Given the description of an element on the screen output the (x, y) to click on. 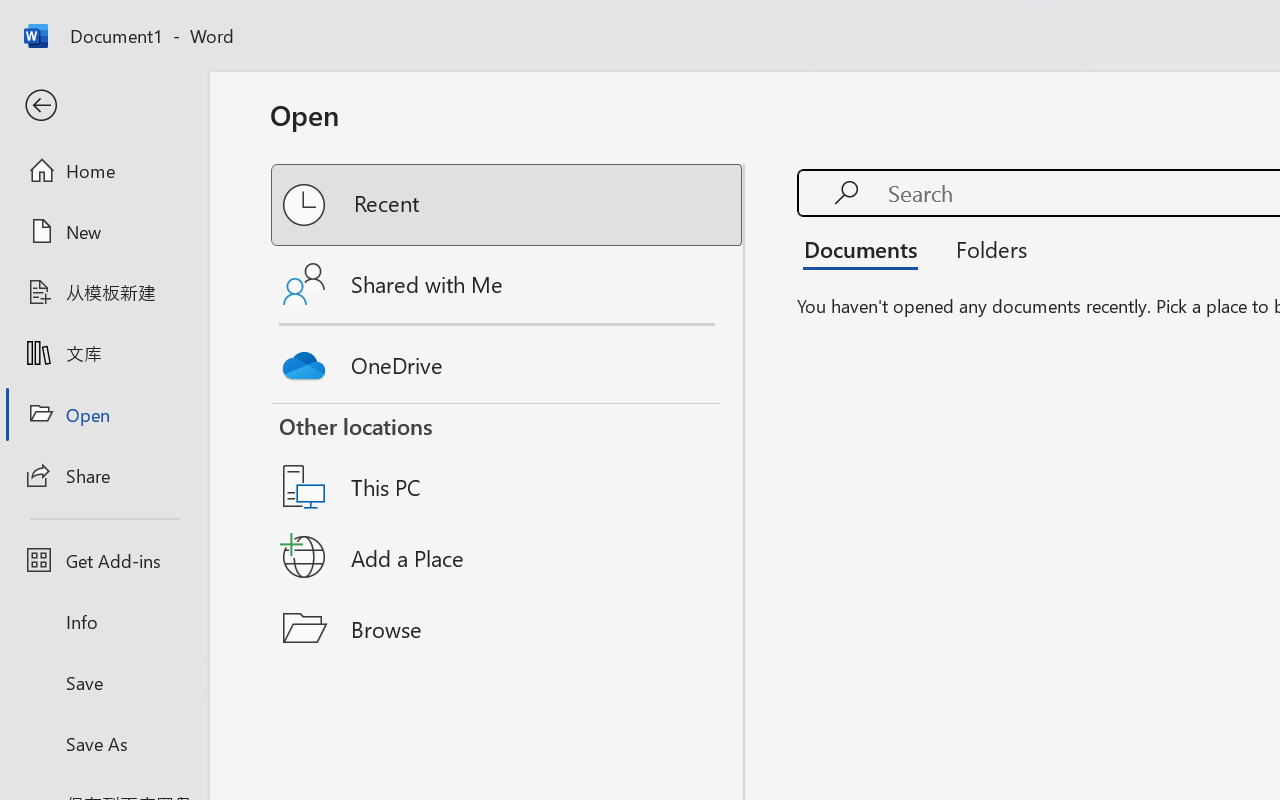
Save As (104, 743)
Back (104, 106)
Get Add-ins (104, 560)
Documents (866, 248)
Browse (507, 627)
Add a Place (507, 557)
New (104, 231)
Shared with Me (507, 283)
Recent (507, 205)
